Given the description of an element on the screen output the (x, y) to click on. 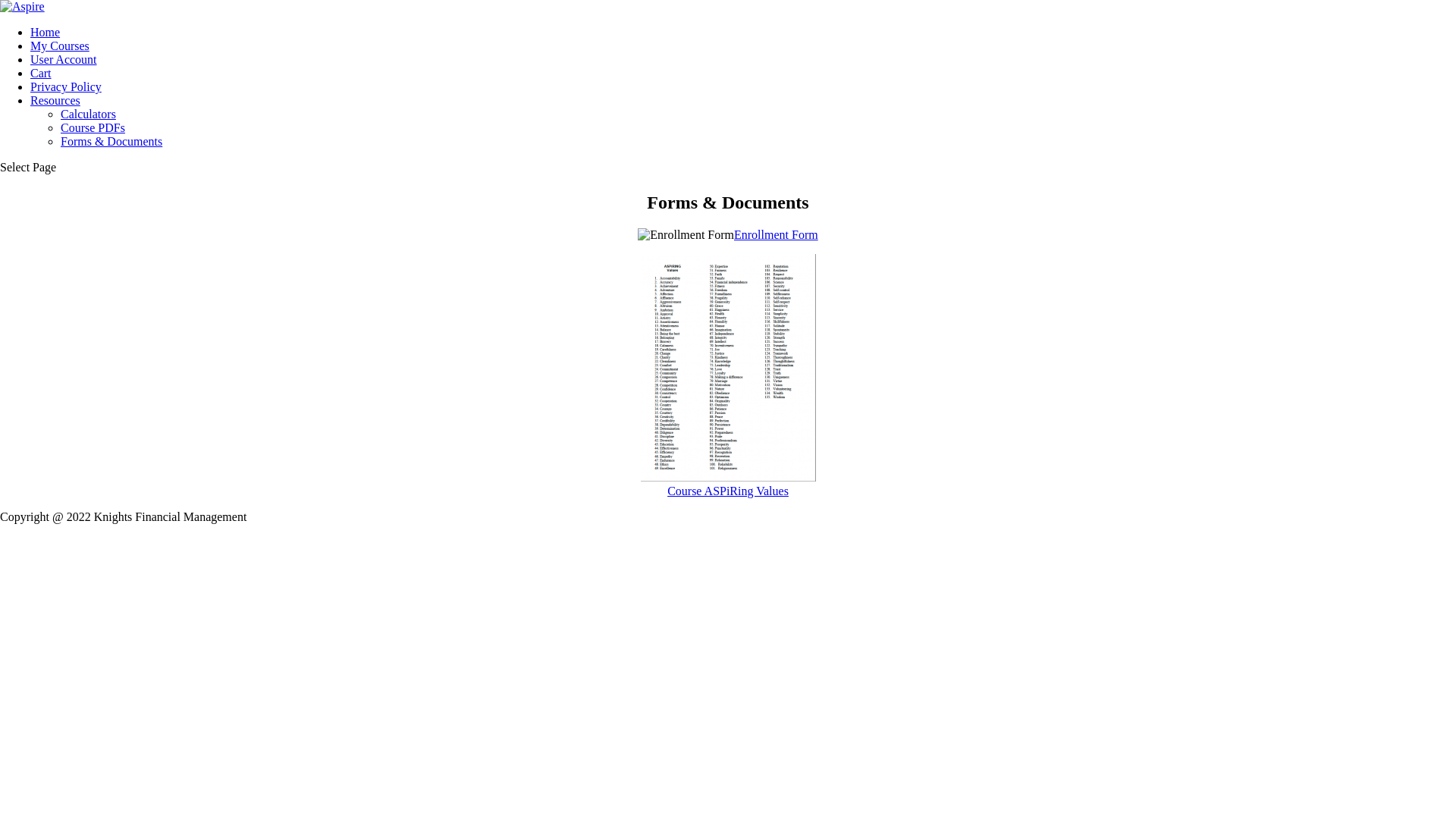
Cart Element type: text (40, 72)
My Courses Element type: text (59, 45)
Enrollment Form Element type: text (776, 234)
User Account Element type: text (63, 59)
Course PDFs Element type: text (92, 127)
Course ASPiRing Values Element type: text (727, 483)
Resources Element type: text (55, 100)
Privacy Policy Element type: text (65, 86)
Forms & Documents Element type: text (111, 140)
Calculators Element type: text (88, 113)
Home Element type: text (44, 31)
